Given the description of an element on the screen output the (x, y) to click on. 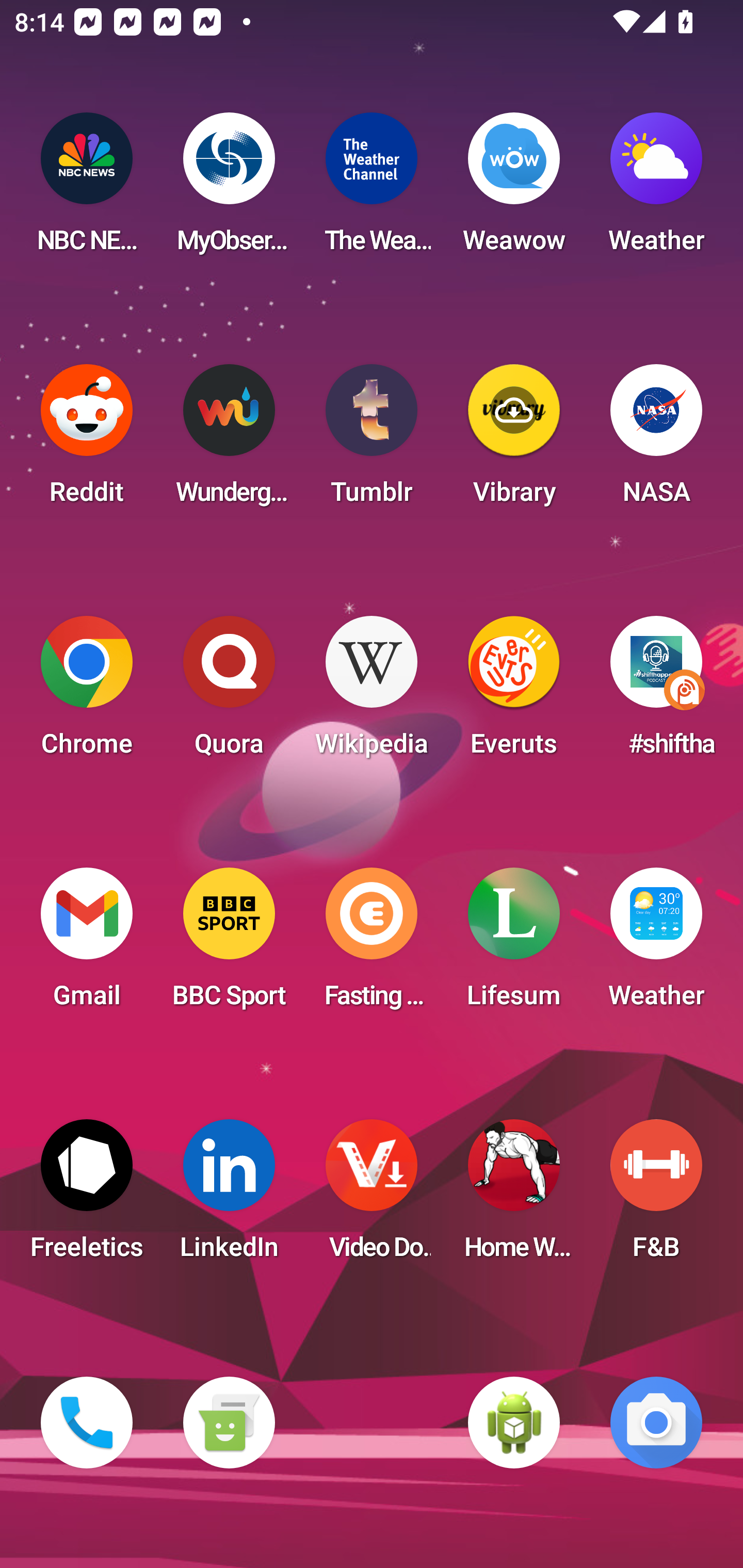
NBC NEWS (86, 188)
MyObservatory (228, 188)
The Weather Channel (371, 188)
Weawow (513, 188)
Weather (656, 188)
Reddit (86, 440)
Wunderground (228, 440)
Tumblr (371, 440)
Vibrary (513, 440)
NASA (656, 440)
Chrome (86, 692)
Quora (228, 692)
Wikipedia (371, 692)
Everuts (513, 692)
#shifthappens in the Digital Workplace Podcast (656, 692)
Gmail (86, 943)
BBC Sport (228, 943)
Fasting Coach (371, 943)
Lifesum (513, 943)
Weather (656, 943)
Freeletics (86, 1195)
LinkedIn (228, 1195)
Video Downloader & Ace Player (371, 1195)
Home Workout (513, 1195)
F&B (656, 1195)
Phone (86, 1422)
Messaging (228, 1422)
WebView Browser Tester (513, 1422)
Camera (656, 1422)
